Given the description of an element on the screen output the (x, y) to click on. 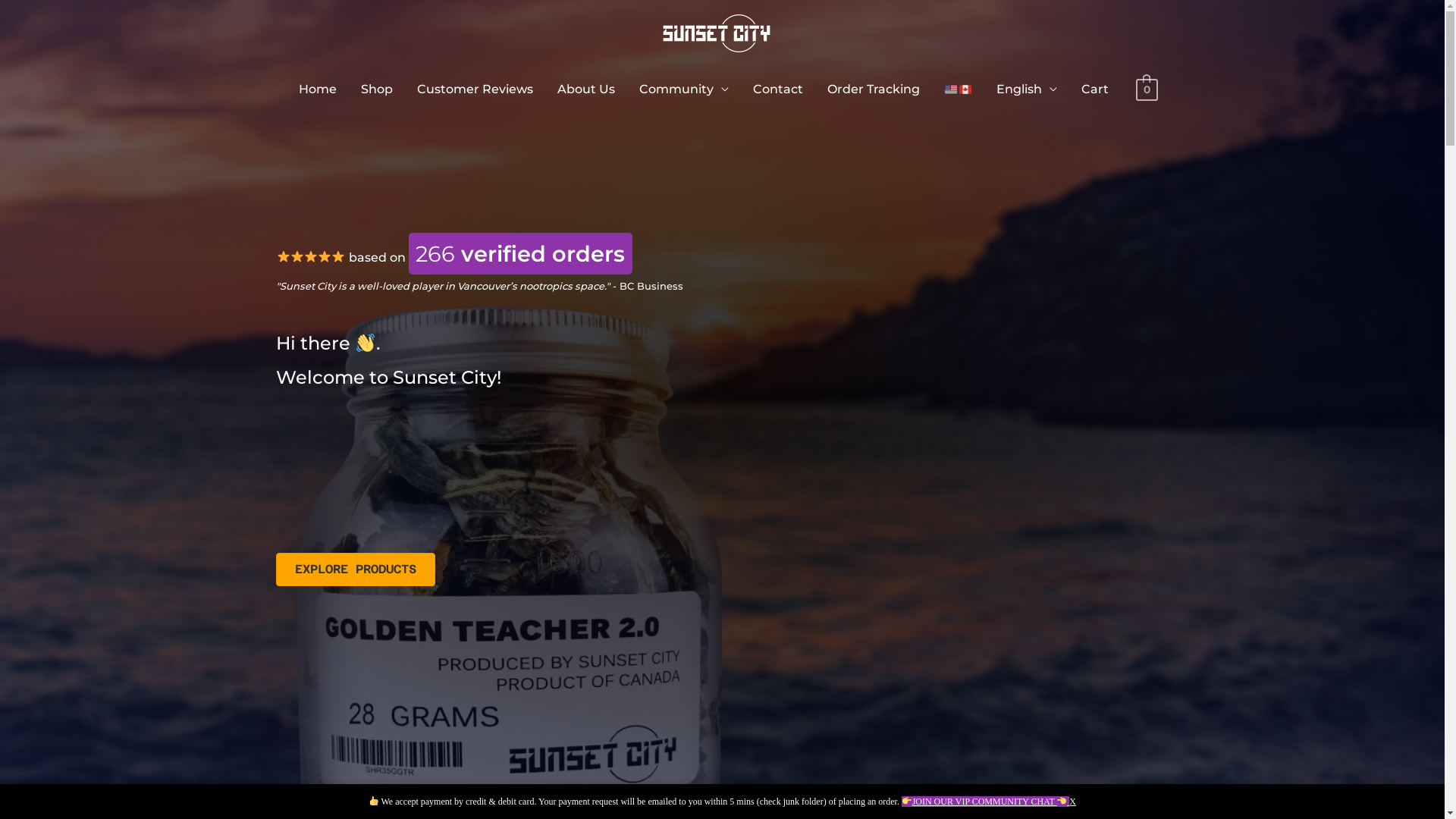
Shop Element type: text (376, 89)
JOIN OUR VIP COMMUNITY CHAT Element type: text (985, 801)
Order Tracking Element type: text (873, 89)
0 Element type: text (1146, 88)
Cart Element type: text (1094, 89)
Customer Reviews Element type: text (474, 89)
EXPLORE PRODUCTS Element type: text (355, 569)
Contact Element type: text (777, 89)
Home Element type: text (317, 89)
About Us Element type: text (586, 89)
X Element type: text (1072, 801)
English Element type: text (1026, 89)
Community Element type: text (683, 89)
